Given the description of an element on the screen output the (x, y) to click on. 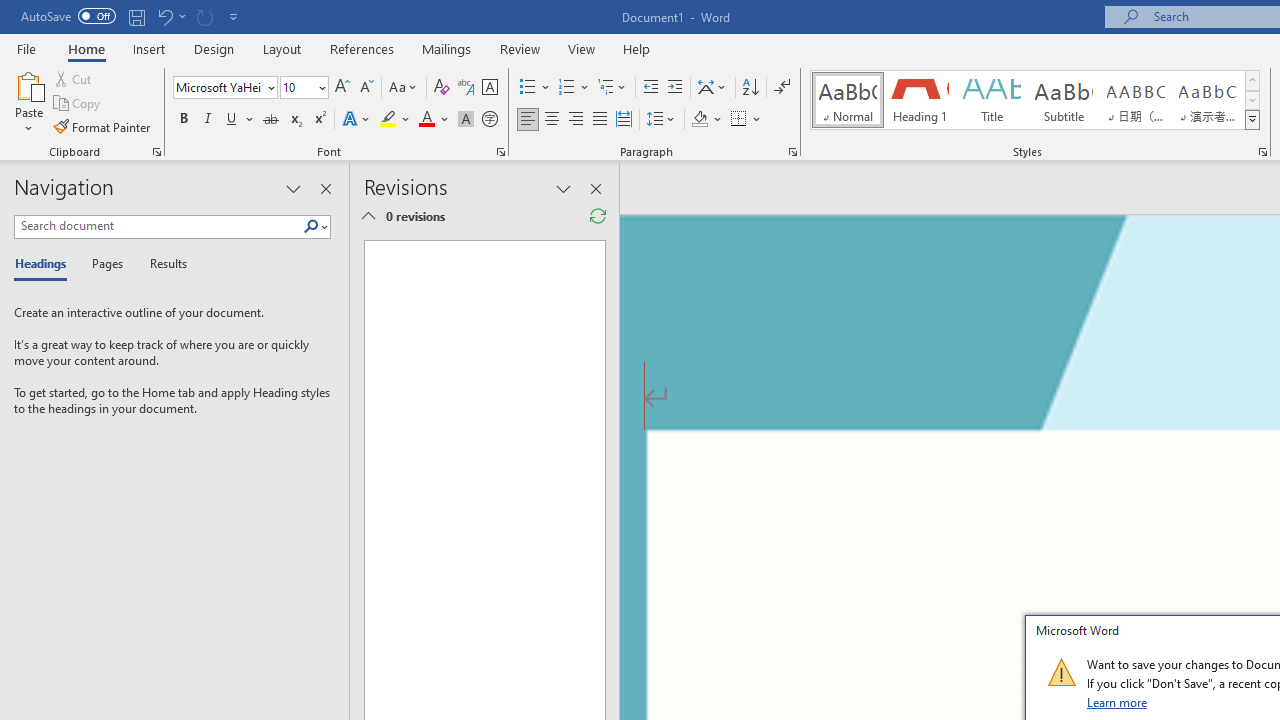
Design (214, 48)
Text Highlight Color (395, 119)
Quick Access Toolbar (131, 16)
Heading 1 (920, 100)
Center (552, 119)
Justify (599, 119)
Numbering (566, 87)
Change Case (404, 87)
Text Highlight Color Yellow (388, 119)
Align Right (575, 119)
Cut (73, 78)
Office Clipboard... (156, 151)
Save (136, 15)
Insert (149, 48)
System (10, 11)
